Given the description of an element on the screen output the (x, y) to click on. 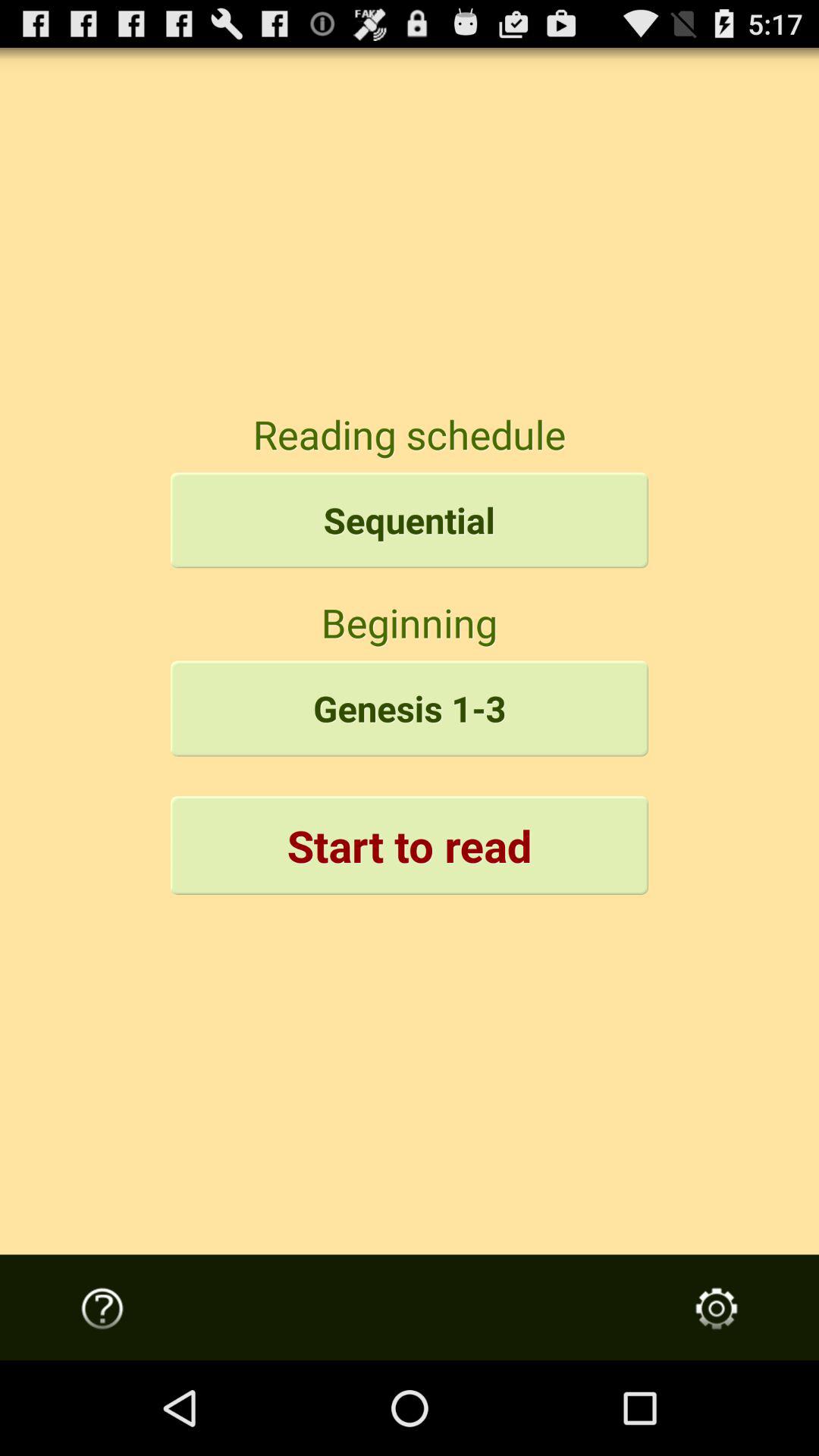
launch sequential button (409, 520)
